Given the description of an element on the screen output the (x, y) to click on. 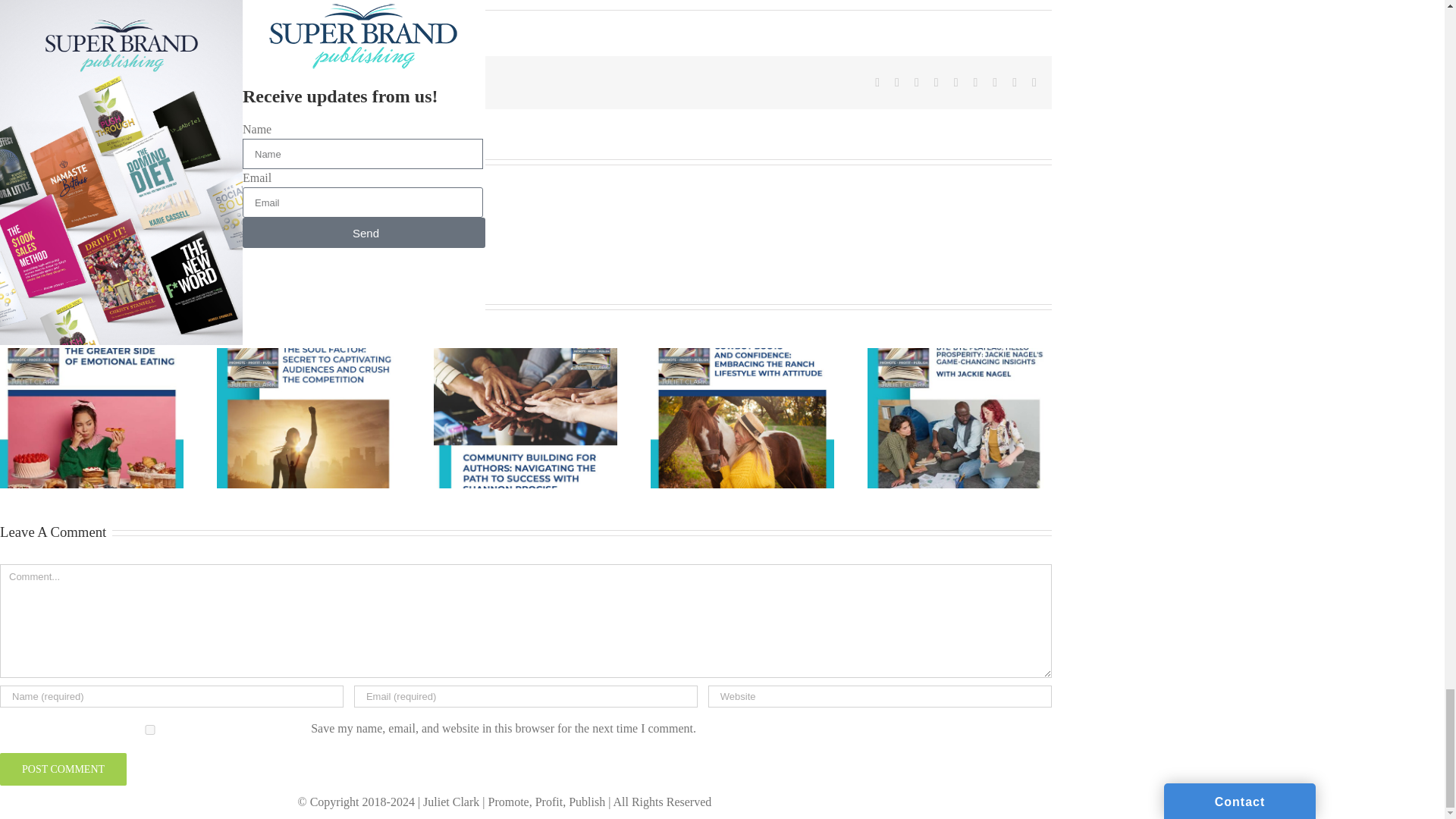
yes (149, 729)
admin (23, 2)
Posts by admin (124, 160)
Post Comment (63, 768)
Posts by admin (23, 2)
